Given the description of an element on the screen output the (x, y) to click on. 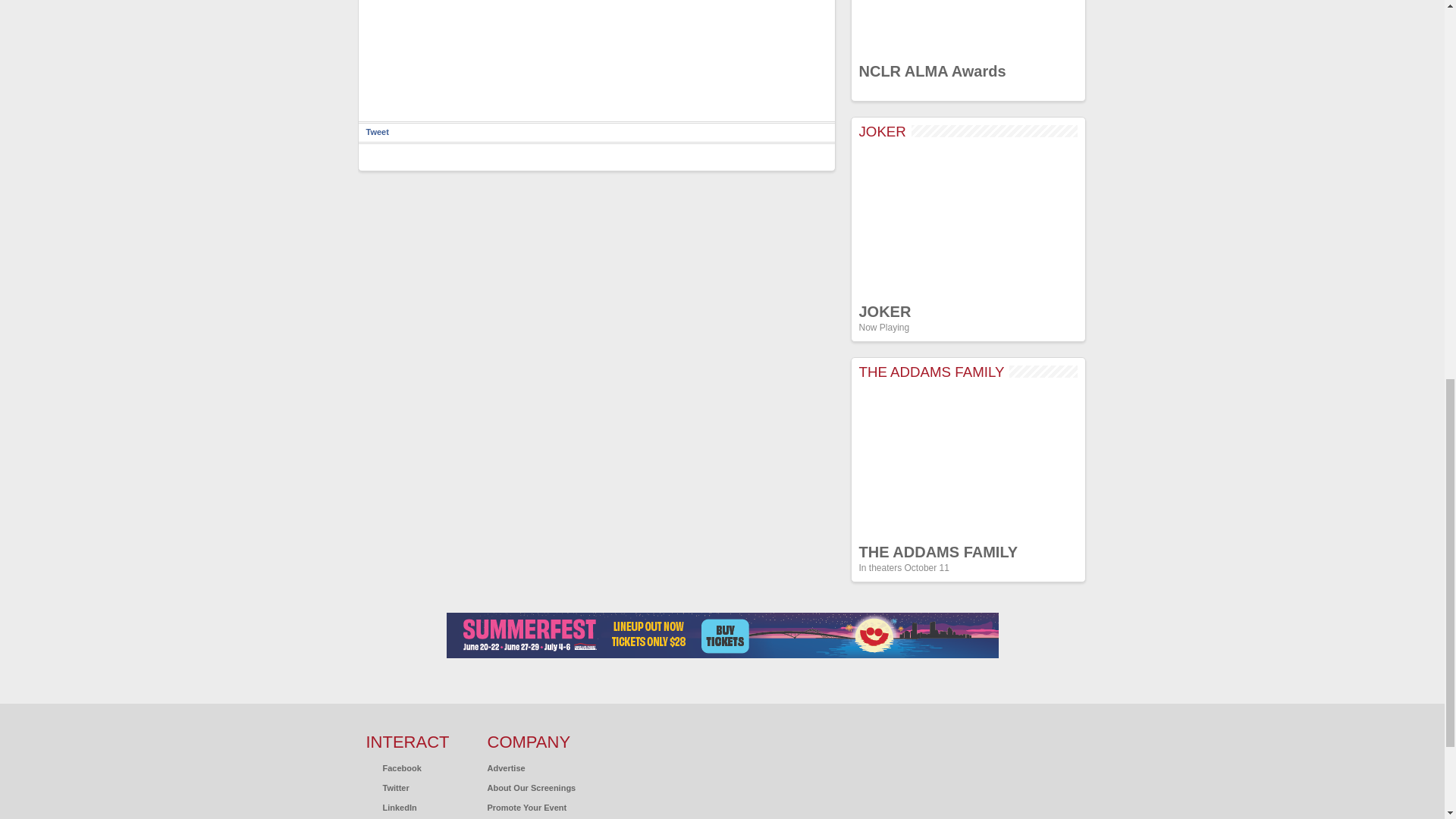
YouTube video player (968, 221)
YouTube video player (968, 27)
LatinoScoop on Facebook (392, 767)
Twitter (387, 787)
LinkedIn (390, 807)
Tweet (376, 131)
YouTube video player (968, 461)
Facebook (392, 767)
